Given the description of an element on the screen output the (x, y) to click on. 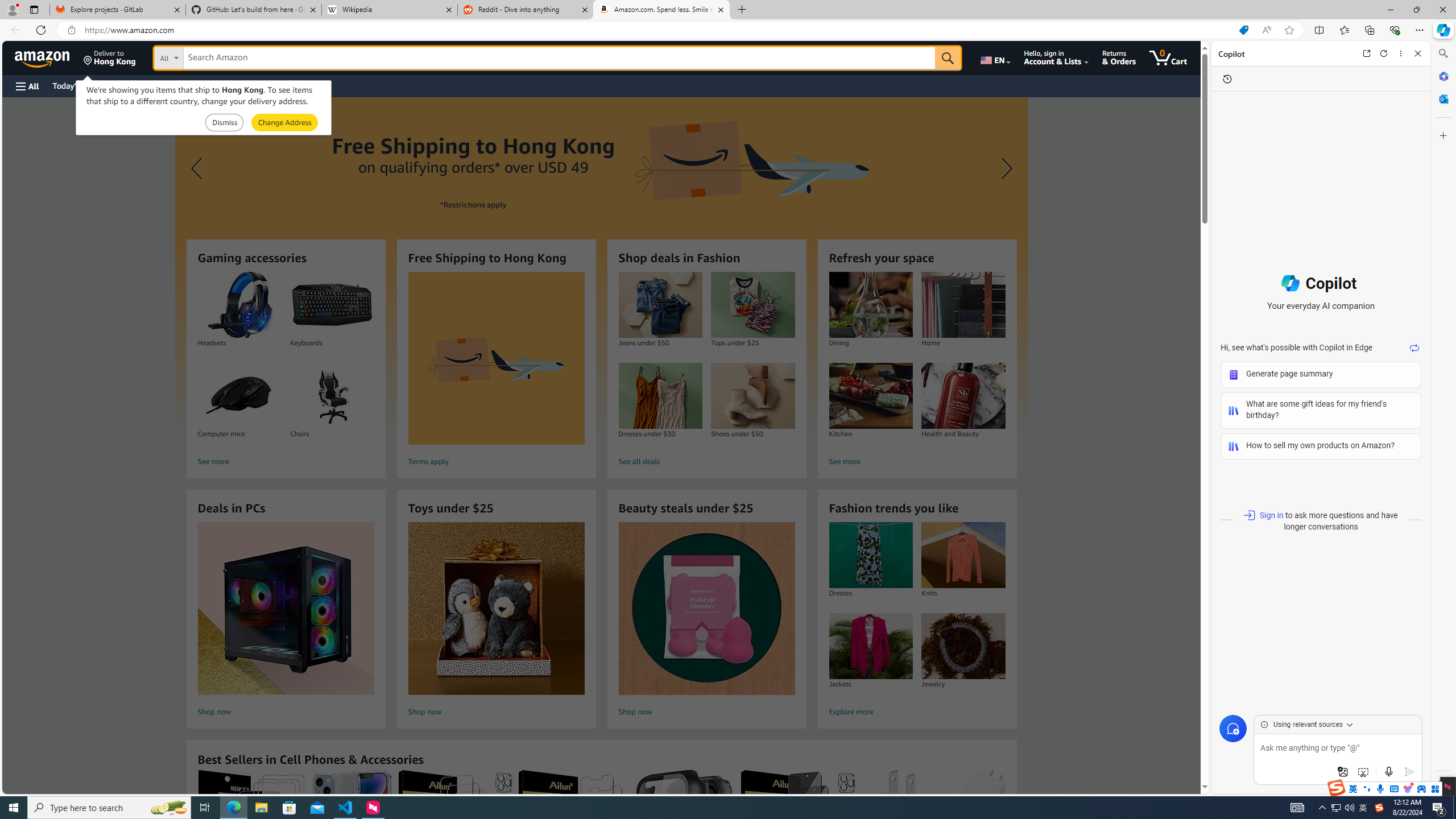
Dining (870, 304)
Beauty steals under $25 (705, 608)
Jackets (870, 645)
Next slide (1003, 168)
Search Amazon (559, 57)
Headsets (239, 304)
0 items in cart (1168, 57)
